Given the description of an element on the screen output the (x, y) to click on. 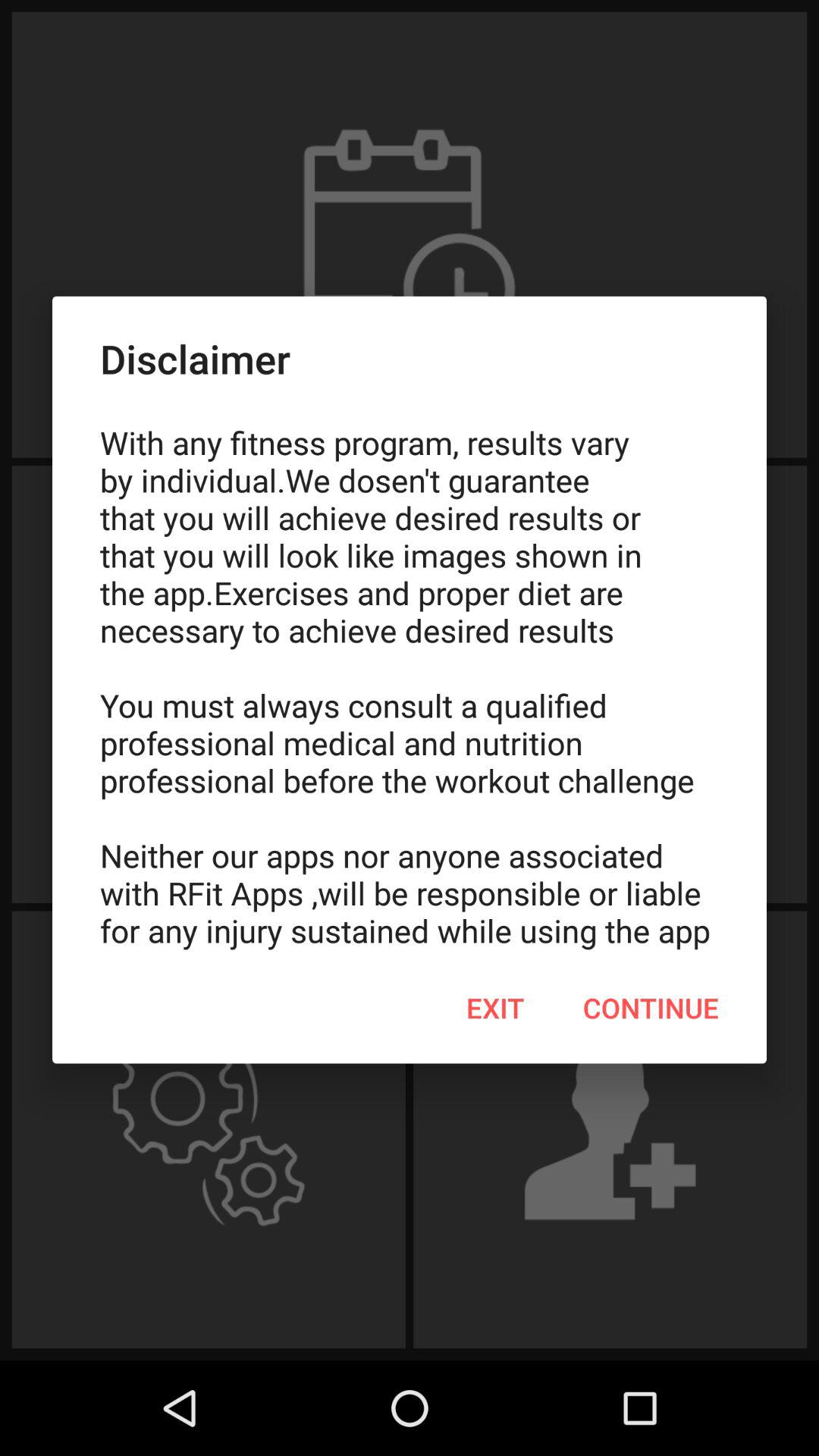
press icon to the left of the continue icon (495, 1007)
